Given the description of an element on the screen output the (x, y) to click on. 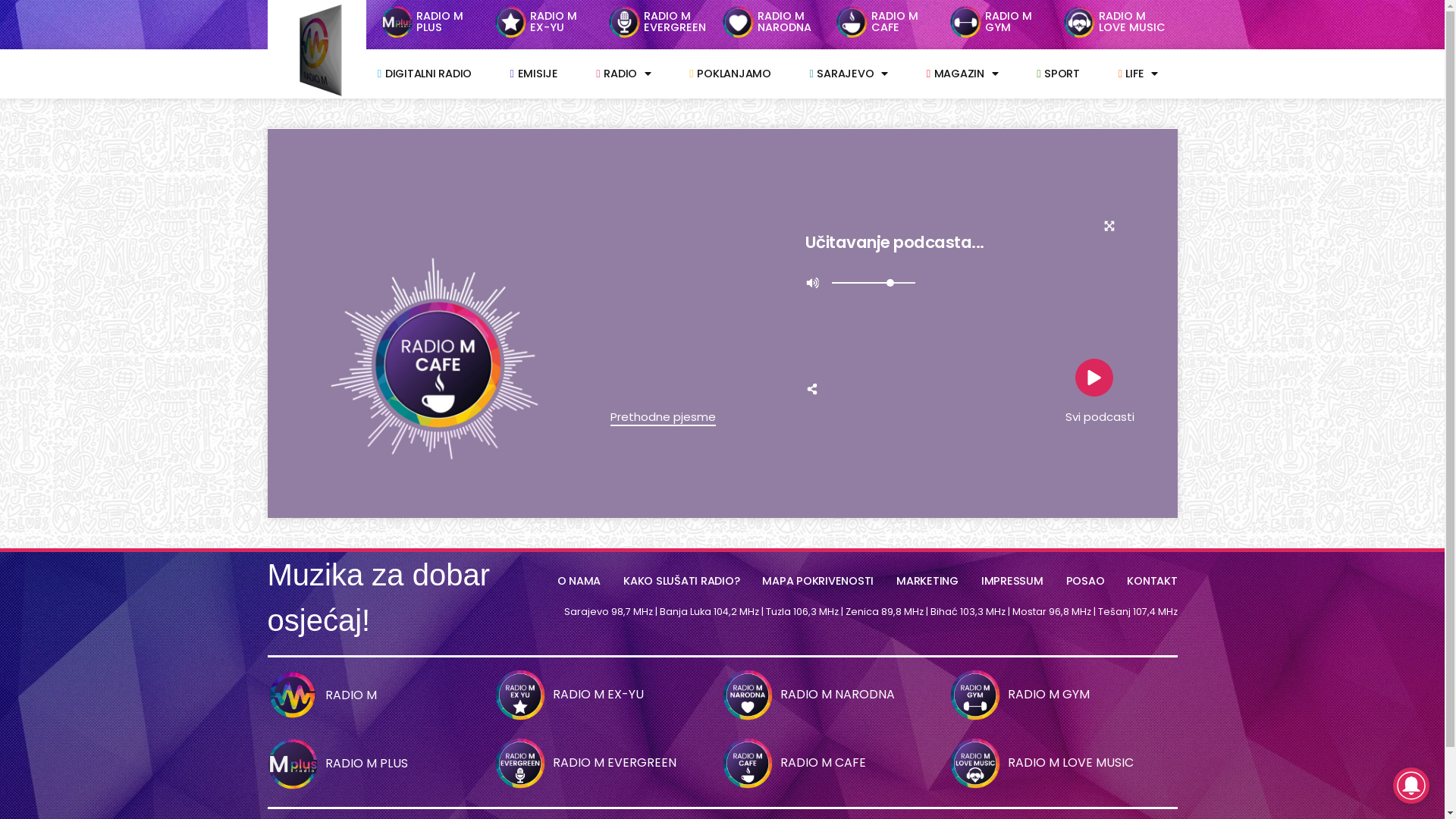
RADIO M NARODNA Element type: text (837, 693)
RADIO M
LOVE MUSIC Element type: text (1131, 21)
RADIO M
CAFE Element type: text (894, 21)
O NAMA Element type: text (578, 580)
RADIO M
PLUS Element type: text (439, 21)
MAPA POKRIVENOSTI Element type: text (817, 580)
RADIO M Element type: text (350, 694)
RADIO M GYM Element type: text (1048, 693)
RADIO M EX-YU Element type: text (597, 693)
KONTAKT Element type: text (1151, 580)
RADIO M
EX-YU Element type: text (553, 21)
RADIO M
GYM Element type: text (1008, 21)
MARKETING Element type: text (927, 580)
RADIO M
NARODNA Element type: text (784, 21)
RADIO M PLUS Element type: text (366, 762)
RADIO M LOVE MUSIC Element type: text (1070, 762)
RADIO M
EVERGREEN Element type: text (674, 21)
RADIO M EVERGREEN Element type: text (614, 762)
IMPRESSUM Element type: text (1012, 580)
RADIO M CAFE Element type: text (823, 762)
POSAO Element type: text (1085, 580)
